Given the description of an element on the screen output the (x, y) to click on. 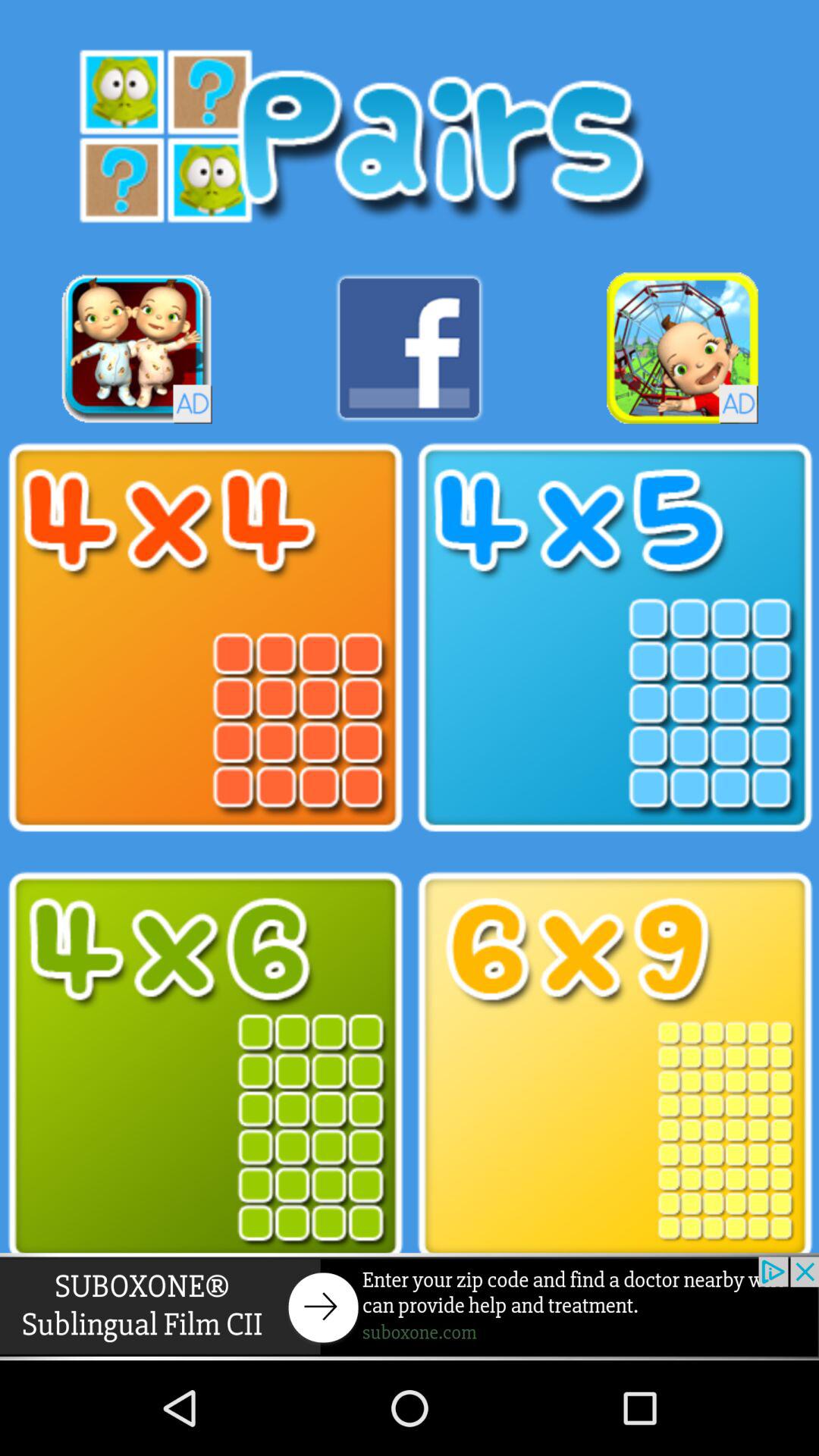
game level option (204, 1066)
